Given the description of an element on the screen output the (x, y) to click on. 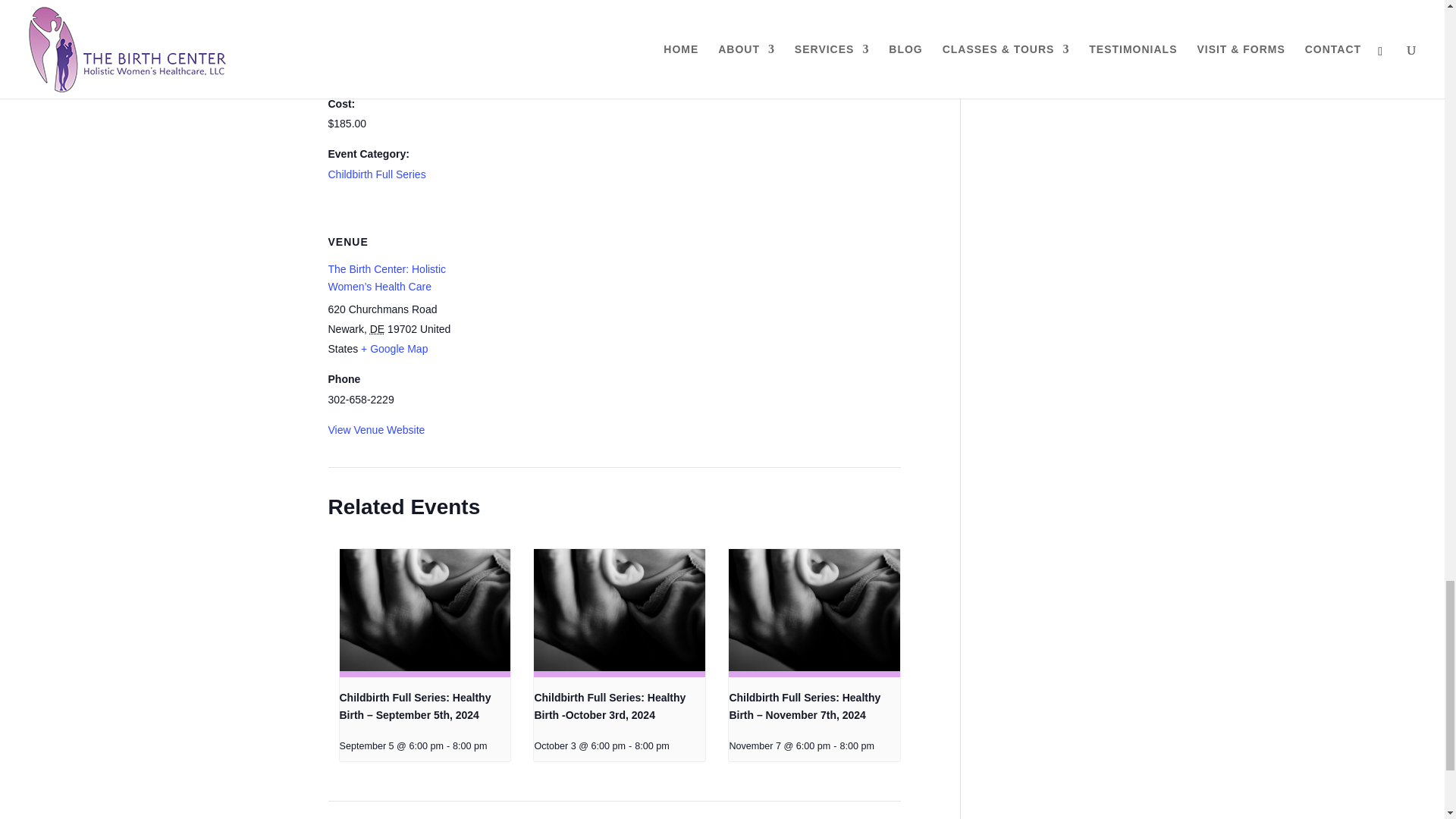
The Birth Center (512, 4)
Delaware (376, 328)
Childbirth Full Series (376, 174)
2023-10-05 (365, 22)
The Birth Center (512, 4)
2023-10-05 (390, 74)
Click to view a Google Map (394, 348)
View Organizer Website (529, 82)
View Venue Website (376, 429)
